Given the description of an element on the screen output the (x, y) to click on. 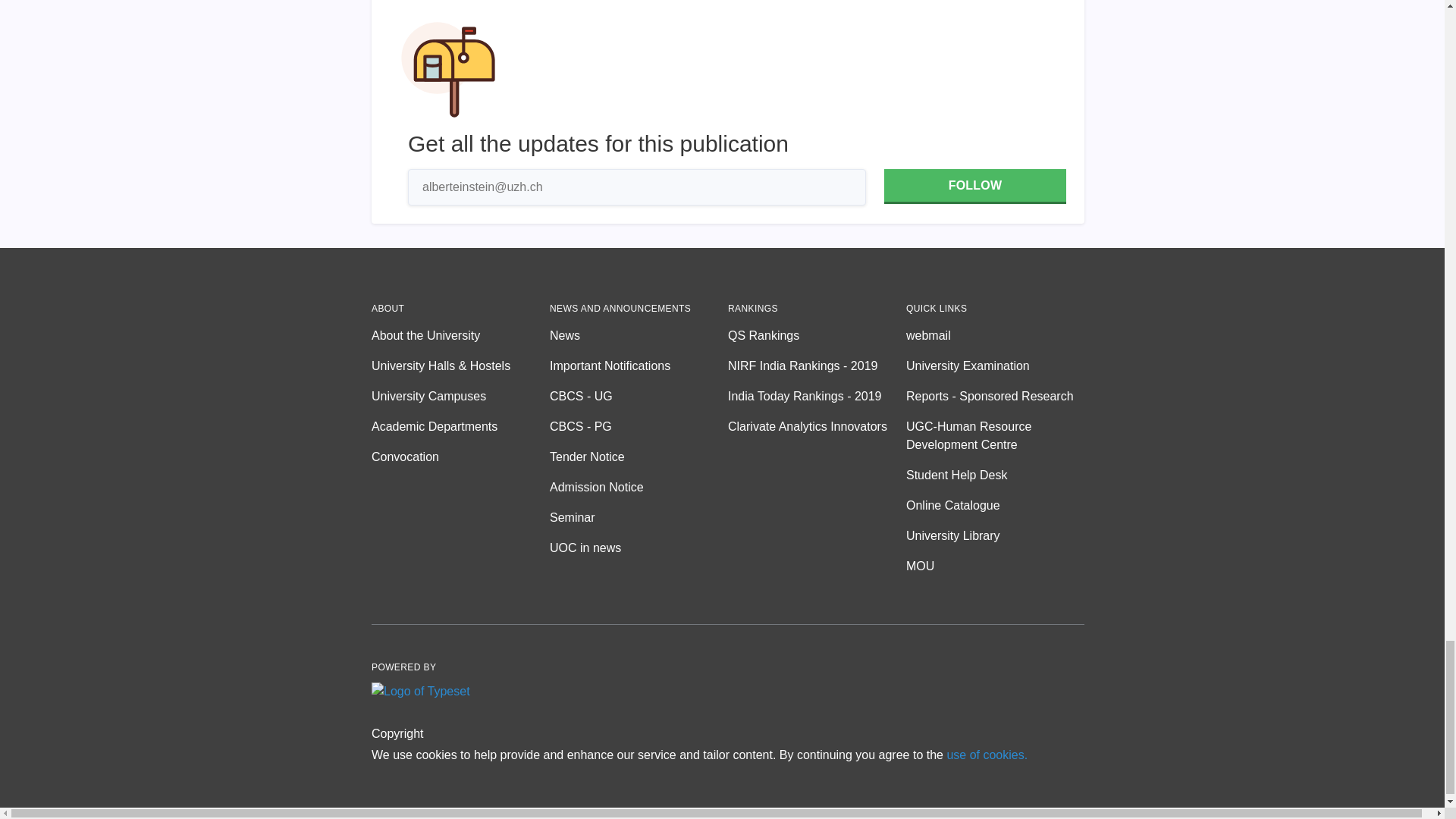
Logo of Typeset (420, 691)
Subscribe form hero illustration (448, 69)
